Given the description of an element on the screen output the (x, y) to click on. 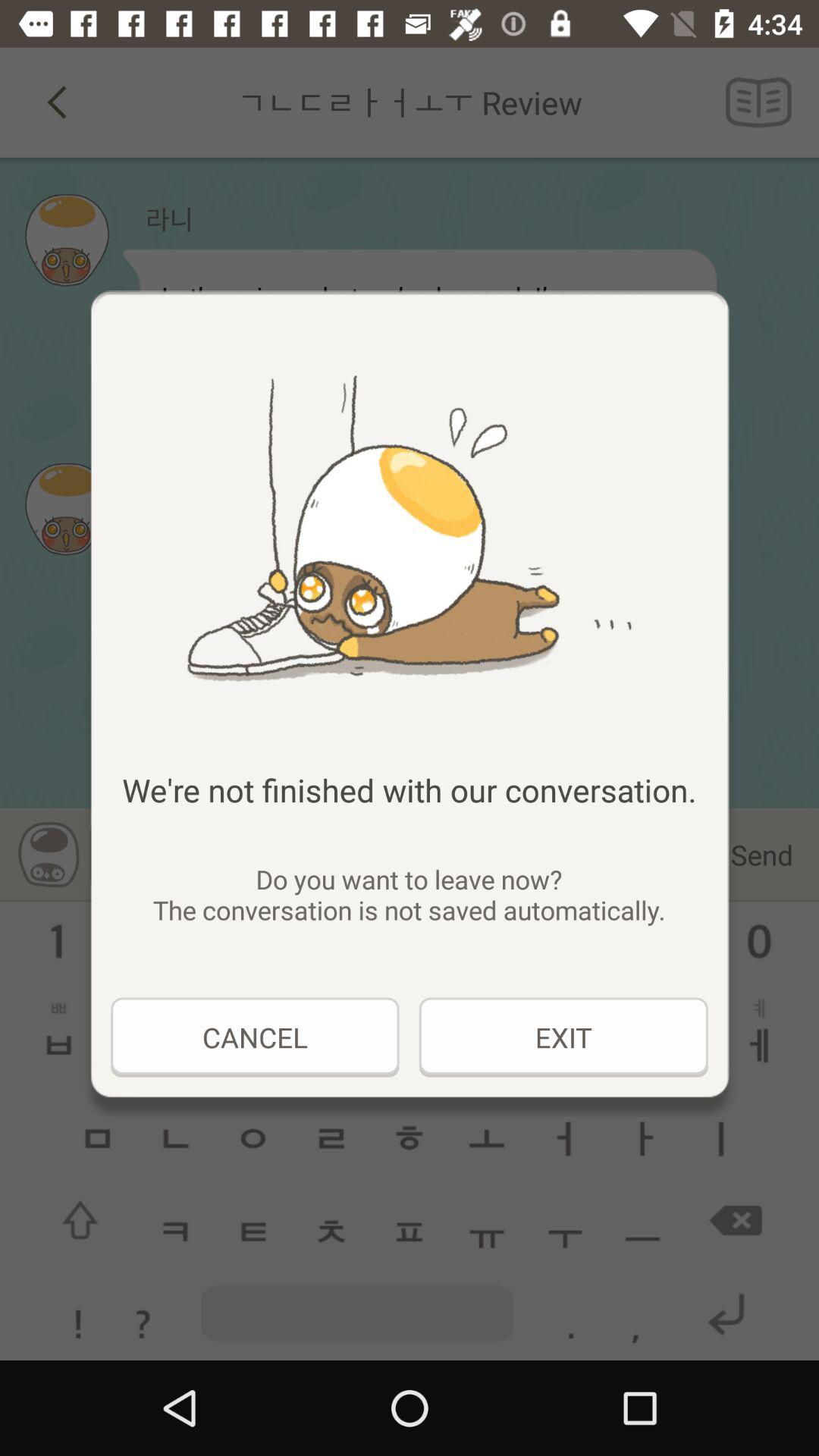
press exit button (563, 1037)
